Given the description of an element on the screen output the (x, y) to click on. 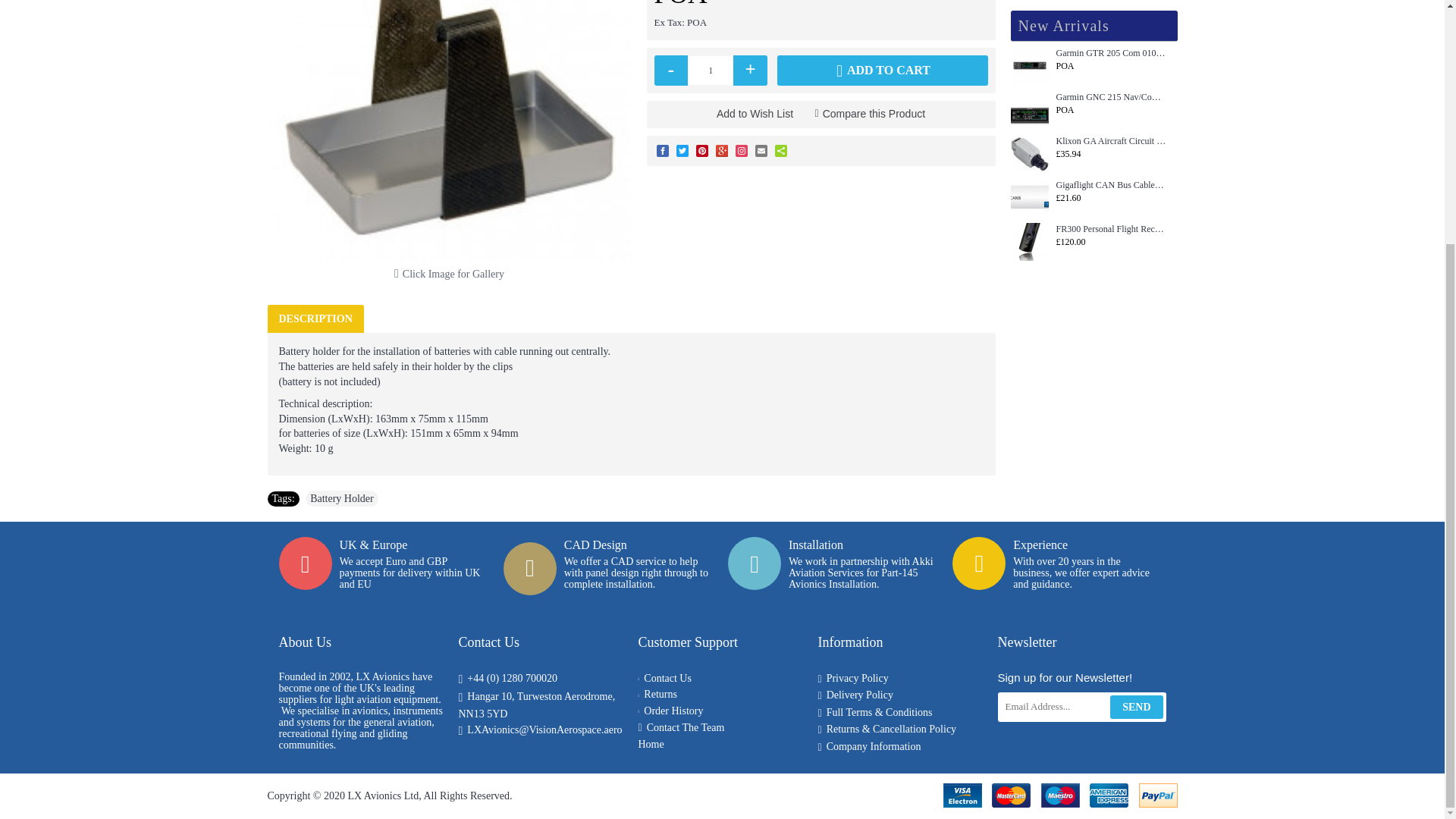
FR300 Personal Flight Recorder and Logbook (1029, 241)
Klixon GA Aircraft Circuit Breakers (1029, 153)
Garmin GTR 205 Com 010-02480-01 (1029, 65)
Gigaflight CAN Bus Cable per meter (1029, 198)
1 (710, 70)
